Given the description of an element on the screen output the (x, y) to click on. 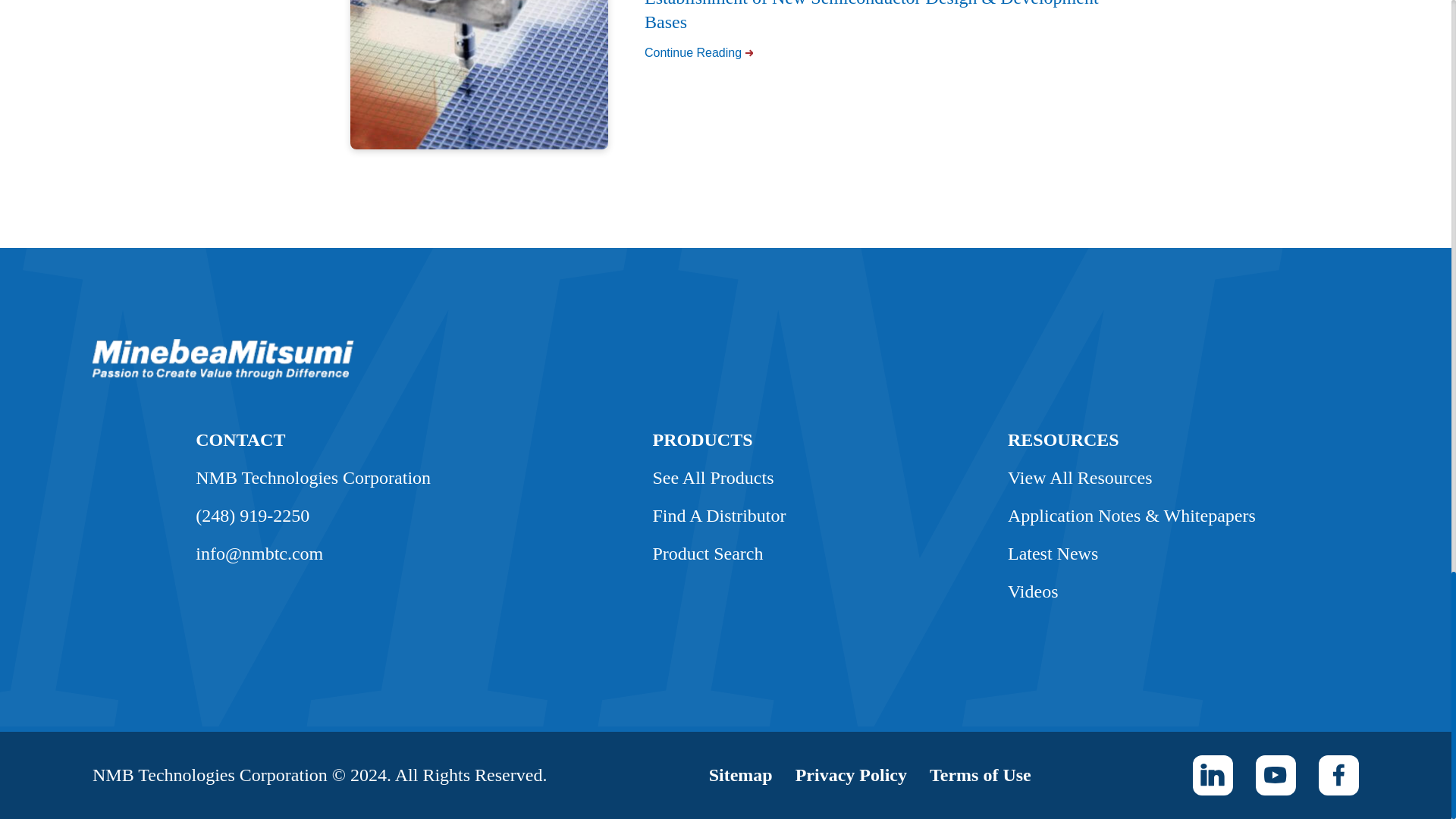
Product Search (707, 553)
Videos (1032, 591)
Latest News (1052, 553)
Find A Distributor (719, 515)
